Given the description of an element on the screen output the (x, y) to click on. 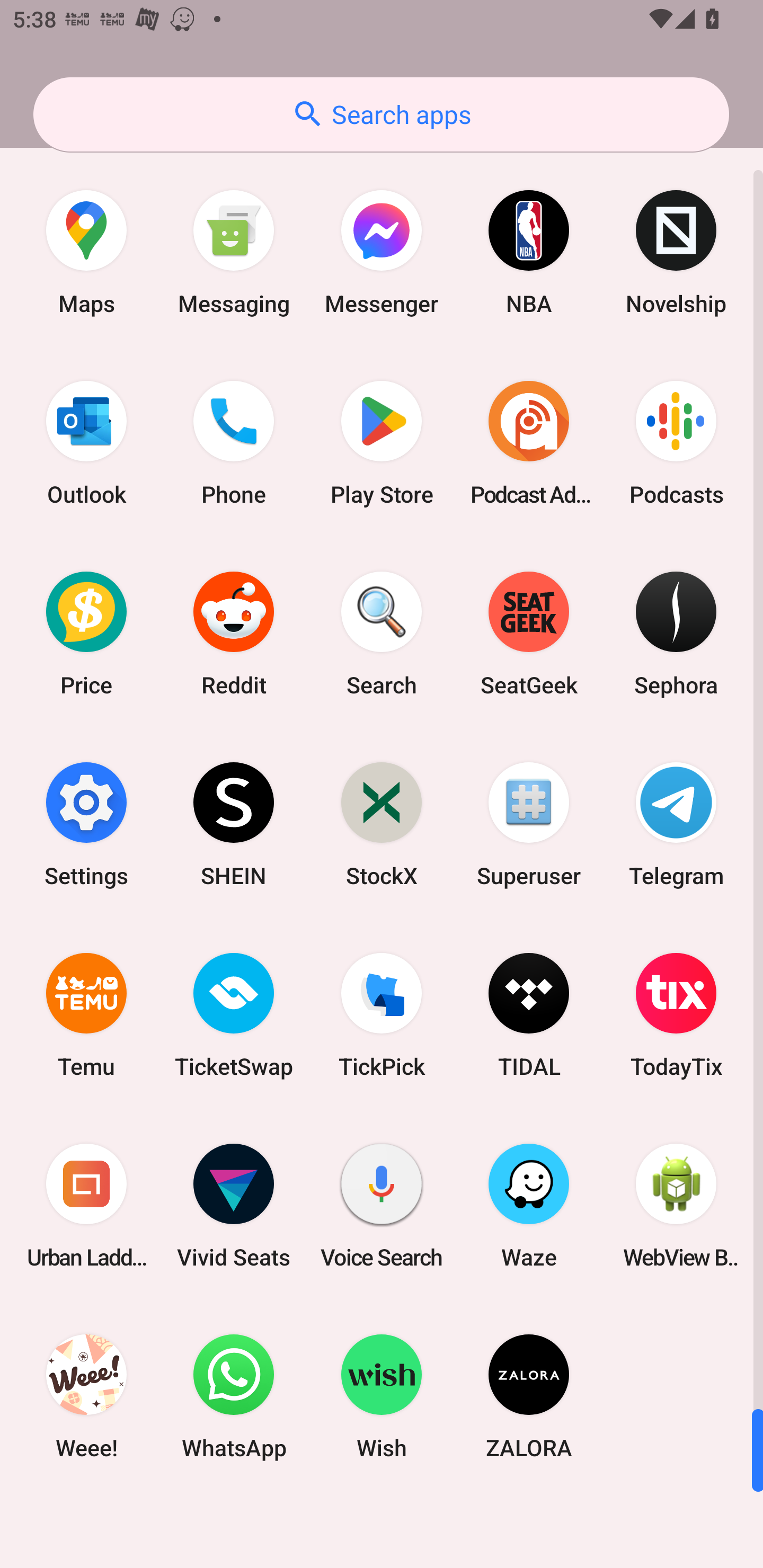
  Search apps (381, 114)
Maps (86, 252)
Messaging (233, 252)
Messenger (381, 252)
NBA (528, 252)
Novelship (676, 252)
Outlook (86, 442)
Phone (233, 442)
Play Store (381, 442)
Podcast Addict (528, 442)
Podcasts (676, 442)
Price (86, 633)
Reddit (233, 633)
Search (381, 633)
SeatGeek (528, 633)
Sephora (676, 633)
Settings (86, 823)
SHEIN (233, 823)
StockX (381, 823)
Superuser (528, 823)
Telegram (676, 823)
Temu (86, 1014)
TicketSwap (233, 1014)
TickPick (381, 1014)
TIDAL (528, 1014)
TodayTix (676, 1014)
Urban Ladder (86, 1205)
Vivid Seats (233, 1205)
Voice Search (381, 1205)
Waze (528, 1205)
WebView Browser Tester (676, 1205)
Weee! (86, 1396)
WhatsApp (233, 1396)
Wish (381, 1396)
ZALORA (528, 1396)
